Given the description of an element on the screen output the (x, y) to click on. 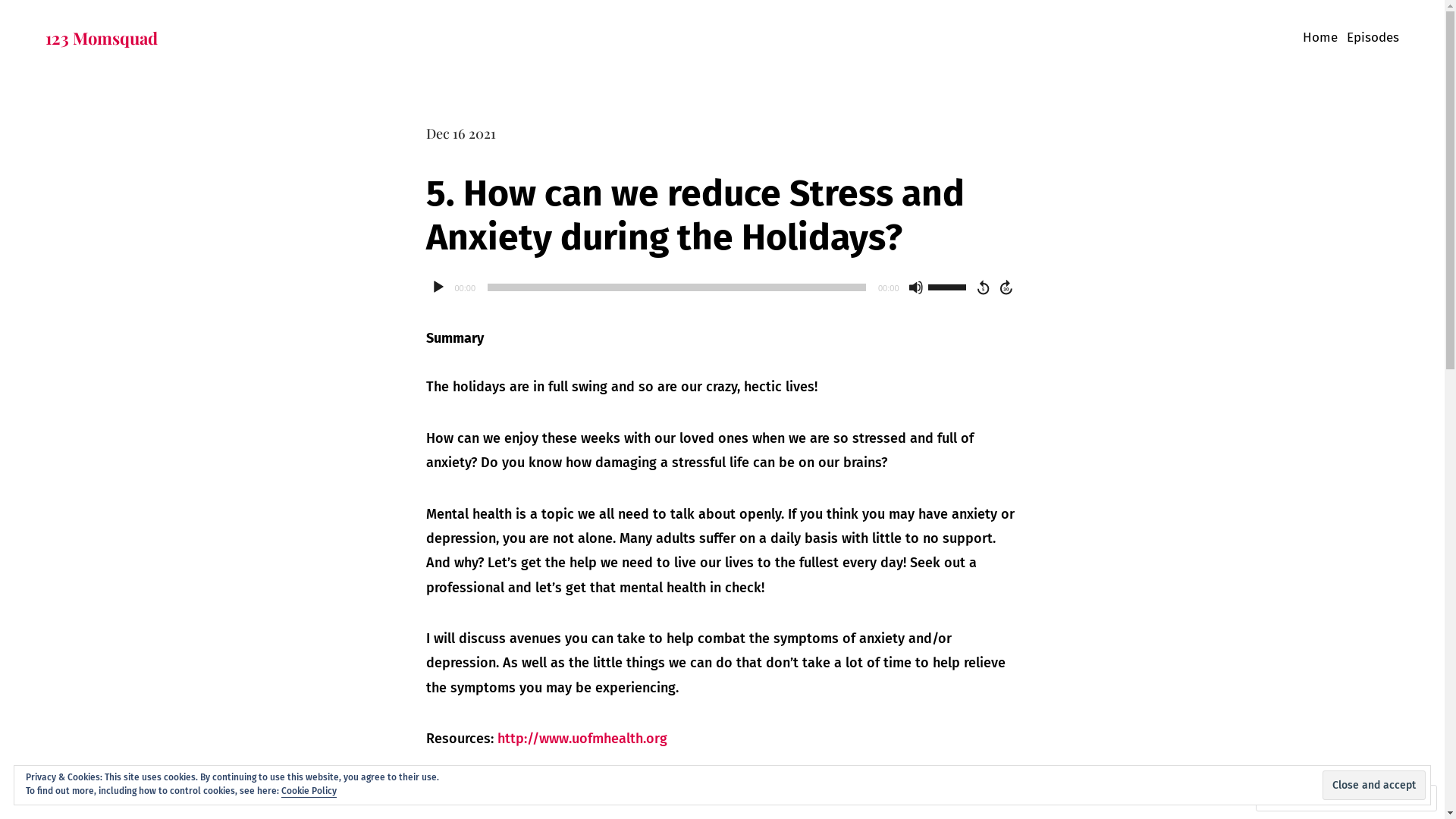
Follow Element type: text (1372, 797)
Play Element type: hover (437, 286)
Mute Element type: hover (915, 286)
123 Momsquad Element type: text (101, 37)
Home Element type: text (1319, 38)
Skip Forward Element type: text (1006, 286)
Comment Element type: text (1297, 797)
Jump Back Element type: text (982, 286)
Cookie Policy Element type: text (308, 790)
Close and accept Element type: text (1373, 785)
Dec 16 2021 Element type: text (460, 133)
Episodes Element type: text (1372, 38)
Use Up/Down Arrow keys to increase or decrease volume. Element type: text (949, 285)
http://www.uofmhealth.org Element type: text (582, 738)
